Given the description of an element on the screen output the (x, y) to click on. 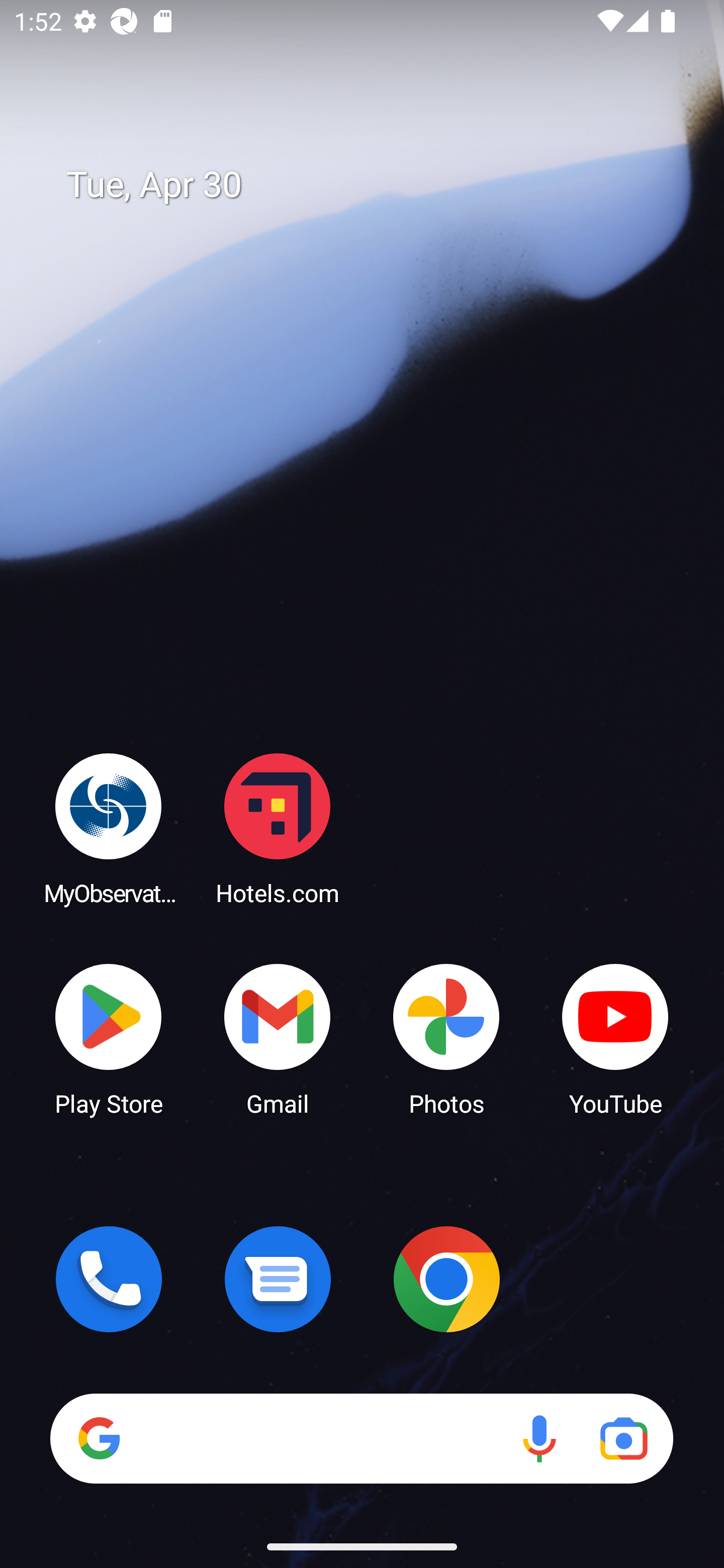
Tue, Apr 30 (375, 184)
MyObservatory (108, 828)
Hotels.com (277, 828)
Play Store (108, 1038)
Gmail (277, 1038)
Photos (445, 1038)
YouTube (615, 1038)
Phone (108, 1279)
Messages (277, 1279)
Chrome (446, 1279)
Voice search (539, 1438)
Google Lens (623, 1438)
